Given the description of an element on the screen output the (x, y) to click on. 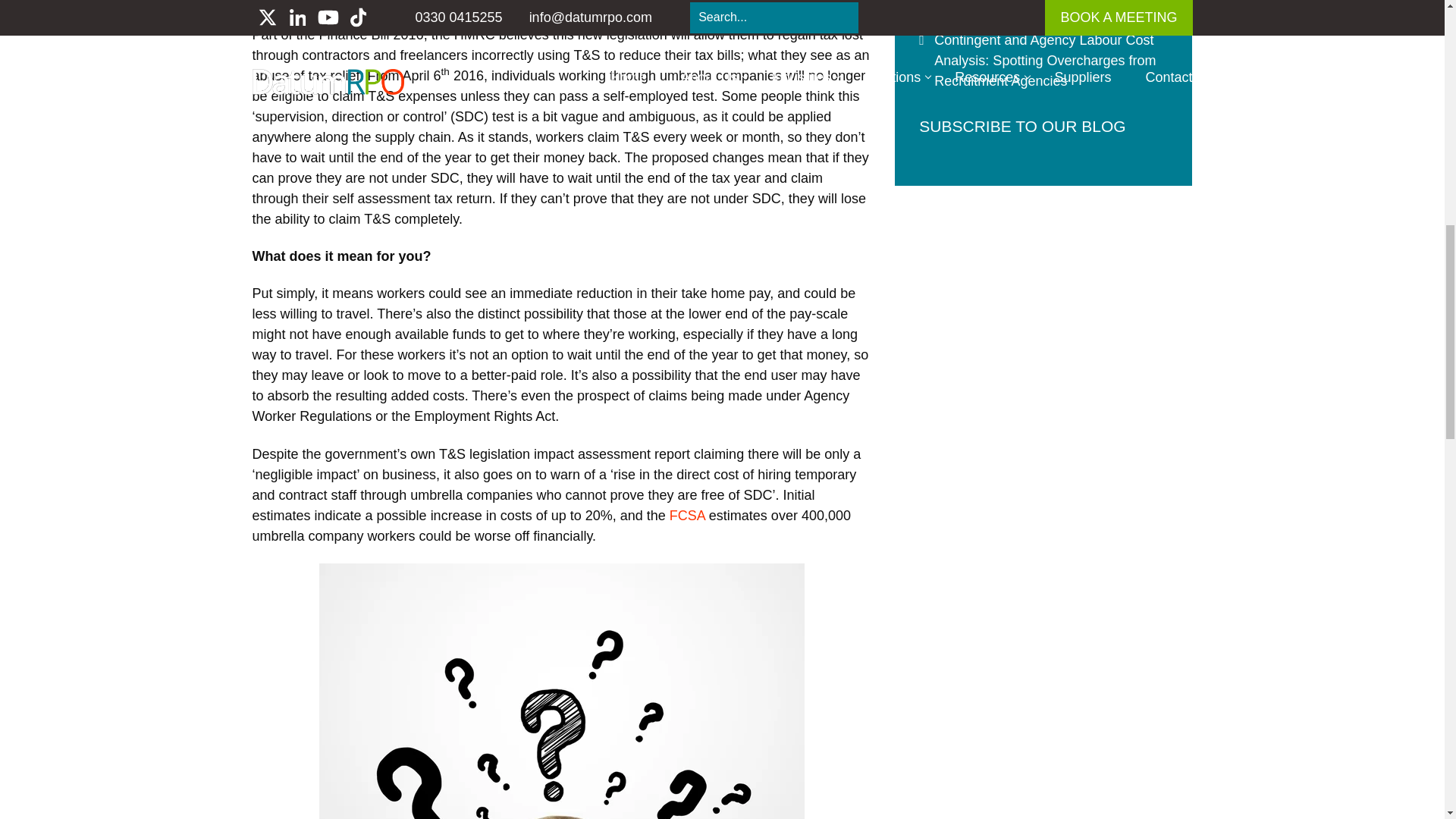
FCSA (686, 515)
Umbrella Legislation - what does it mean? (561, 691)
